Given the description of an element on the screen output the (x, y) to click on. 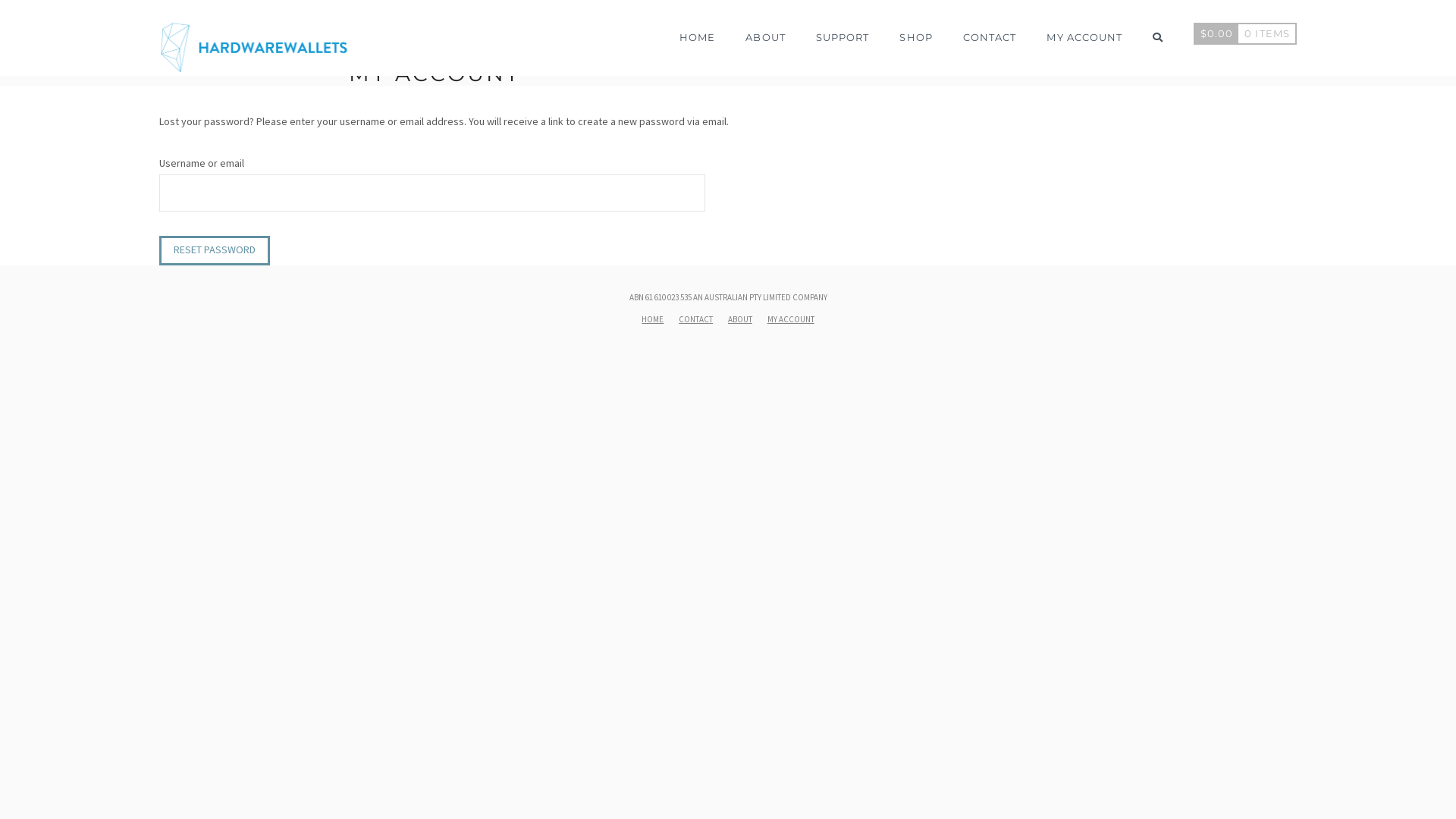
SUPPORT Element type: text (842, 30)
SHOP Element type: text (915, 30)
HOME Element type: text (696, 30)
HOME Element type: text (652, 318)
MY ACCOUNT Element type: text (790, 318)
MY ACCOUNT Element type: text (1084, 30)
ABOUT Element type: text (765, 30)
RESET PASSWORD Element type: text (214, 250)
CONTACT Element type: text (695, 318)
ABOUT Element type: text (740, 318)
CONTACT Element type: text (989, 30)
$0.00
0 ITEMS Element type: text (1244, 30)
